Given the description of an element on the screen output the (x, y) to click on. 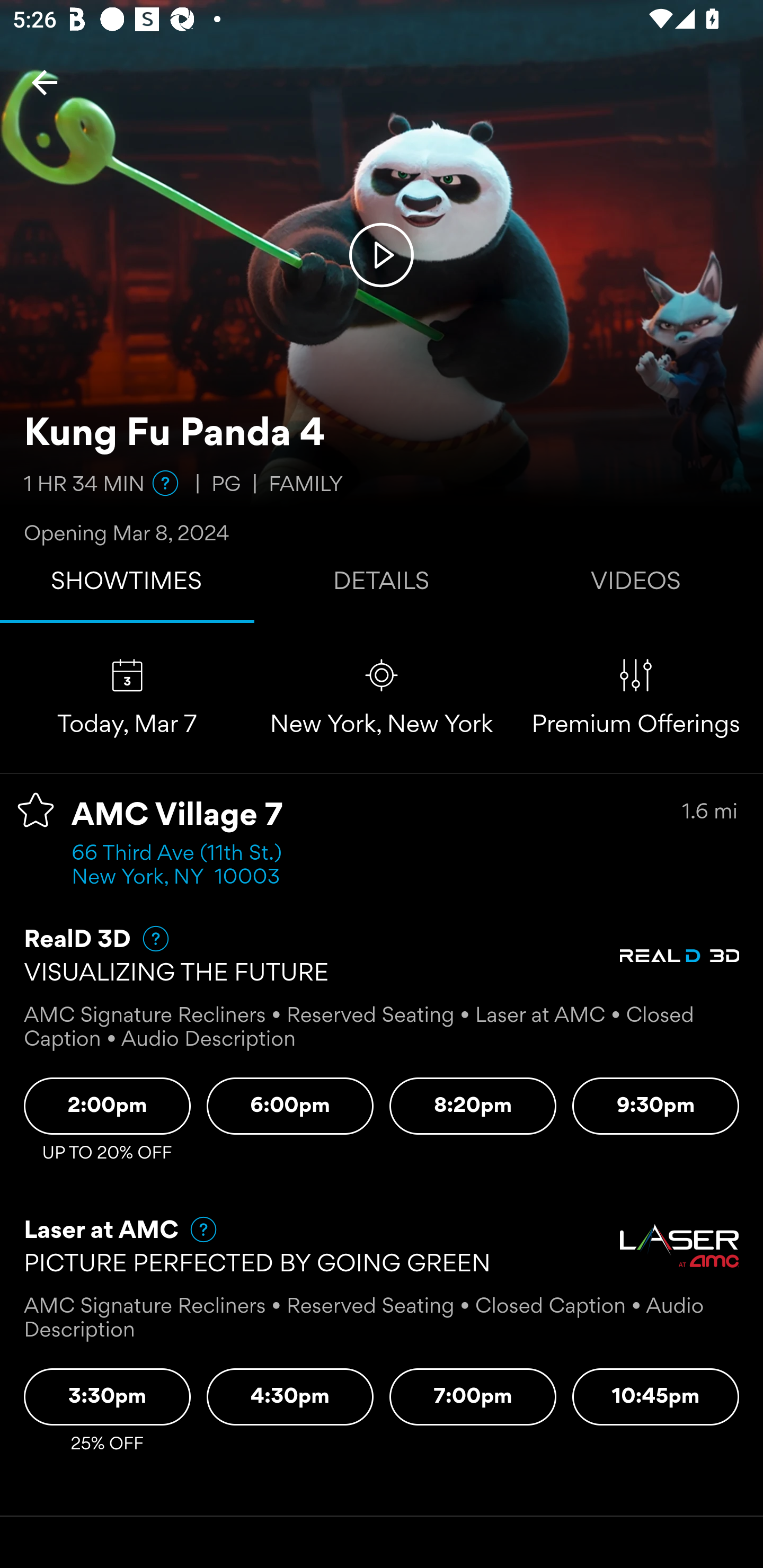
Back (44, 82)
Play (381, 254)
Help (165, 482)
SHOWTIMES
Tab 1 of 3 (127, 584)
DETAILS
Tab 2 of 3 (381, 584)
VIDEOS
Tab 3 of 3 (635, 584)
Change selected day
Today, Mar 7 (127, 697)
Change location
New York, New York (381, 697)
Premium Offerings
Premium Offerings (635, 697)
AMC Village 7 (177, 816)
66 Third Ave (11th St.)  
New York, NY  10003 (182, 866)
Help (147, 938)
AMC Village 7 RealD 3D 2:00pm Showtime Button (106, 1105)
AMC Village 7 RealD 3D 6:00pm Showtime Button (289, 1105)
AMC Village 7 RealD 3D 8:20pm Showtime Button (472, 1105)
AMC Village 7 RealD 3D 9:30pm Showtime Button (655, 1105)
Help (195, 1228)
AMC Village 7 Laser at AMC 3:30pm Showtime Button (106, 1396)
AMC Village 7 Laser at AMC 4:30pm Showtime Button (289, 1396)
AMC Village 7 Laser at AMC 7:00pm Showtime Button (472, 1396)
AMC Village 7 Laser at AMC 10:45pm Showtime Button (655, 1396)
